Given the description of an element on the screen output the (x, y) to click on. 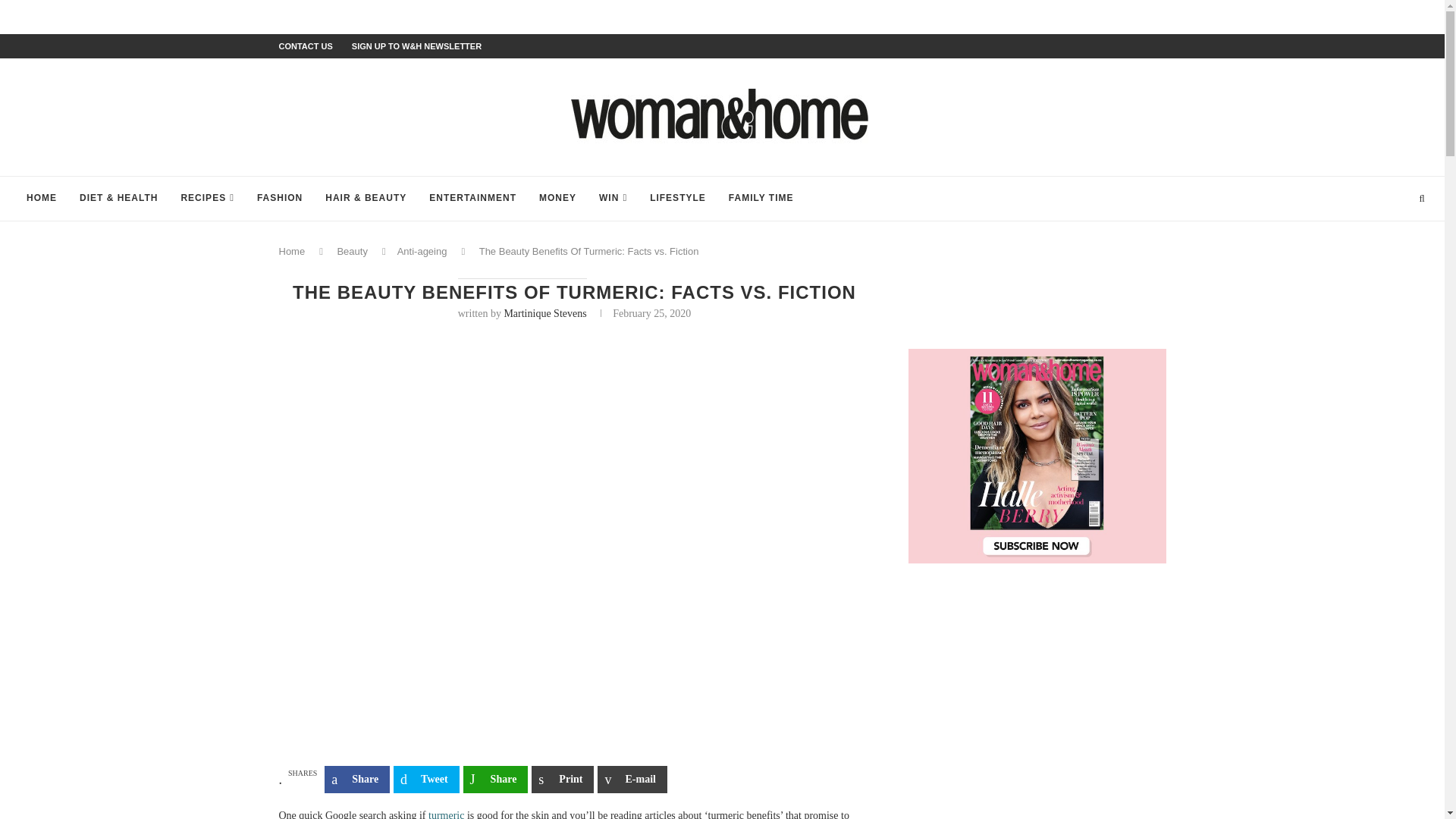
Home (292, 251)
MONEY (557, 198)
Beauty (351, 251)
Share on Print (562, 779)
RECIPES (206, 198)
Share (357, 779)
Share (495, 779)
Share on Share (495, 779)
Share on E-mail (631, 779)
Share on Tweet (426, 779)
FASHION (280, 198)
Anti-ageing (421, 251)
Share on Share (357, 779)
Martinique Stevens (544, 313)
LIFESTYLE (678, 198)
